Given the description of an element on the screen output the (x, y) to click on. 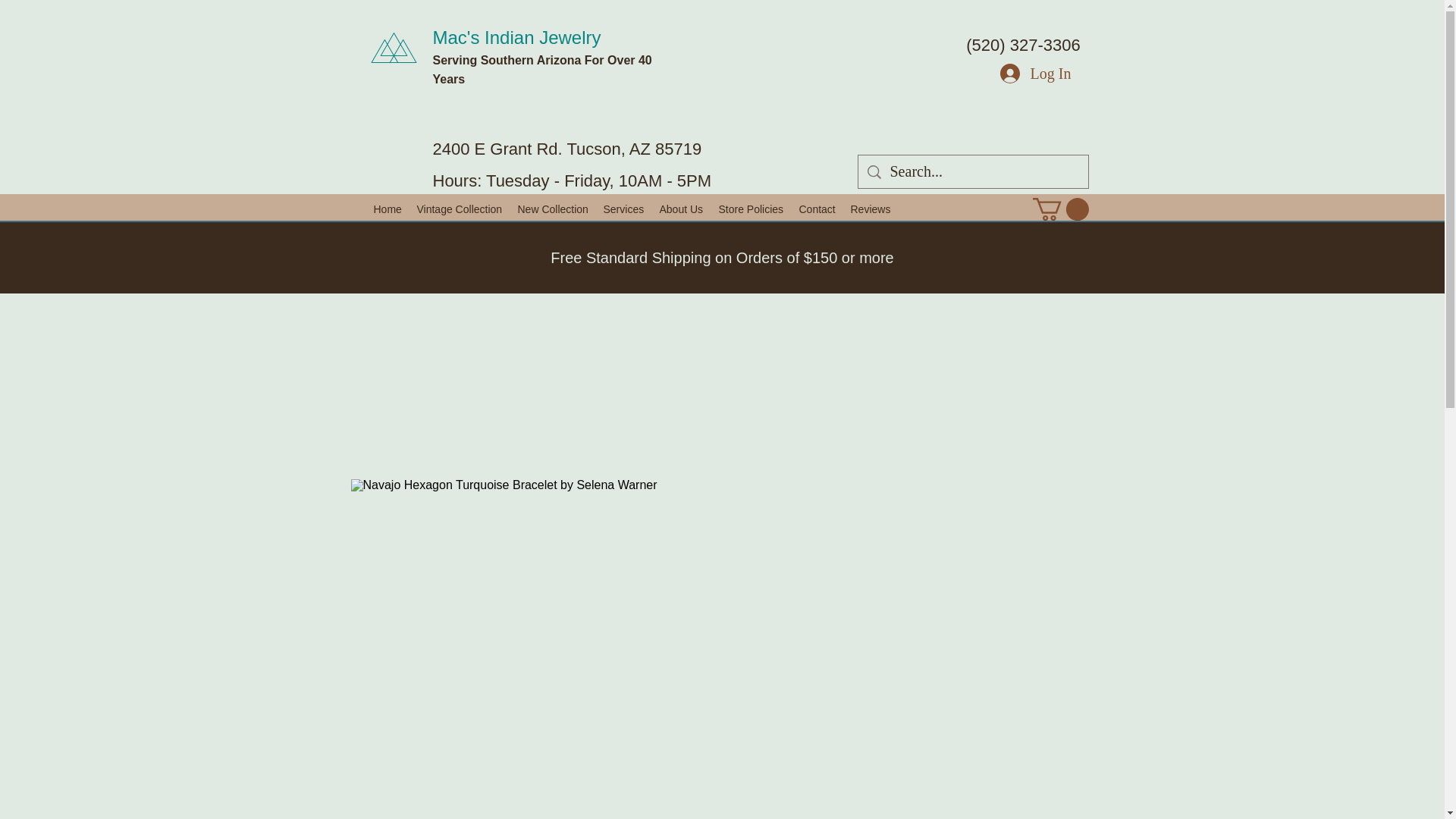
Log In (1035, 72)
Home (387, 209)
Services (623, 209)
Contact (817, 209)
Store Policies (751, 209)
About Us (681, 209)
Reviews (870, 209)
Mac's Indian Jewelry (515, 37)
Vintage Collection (460, 209)
New Collection (552, 209)
